Given the description of an element on the screen output the (x, y) to click on. 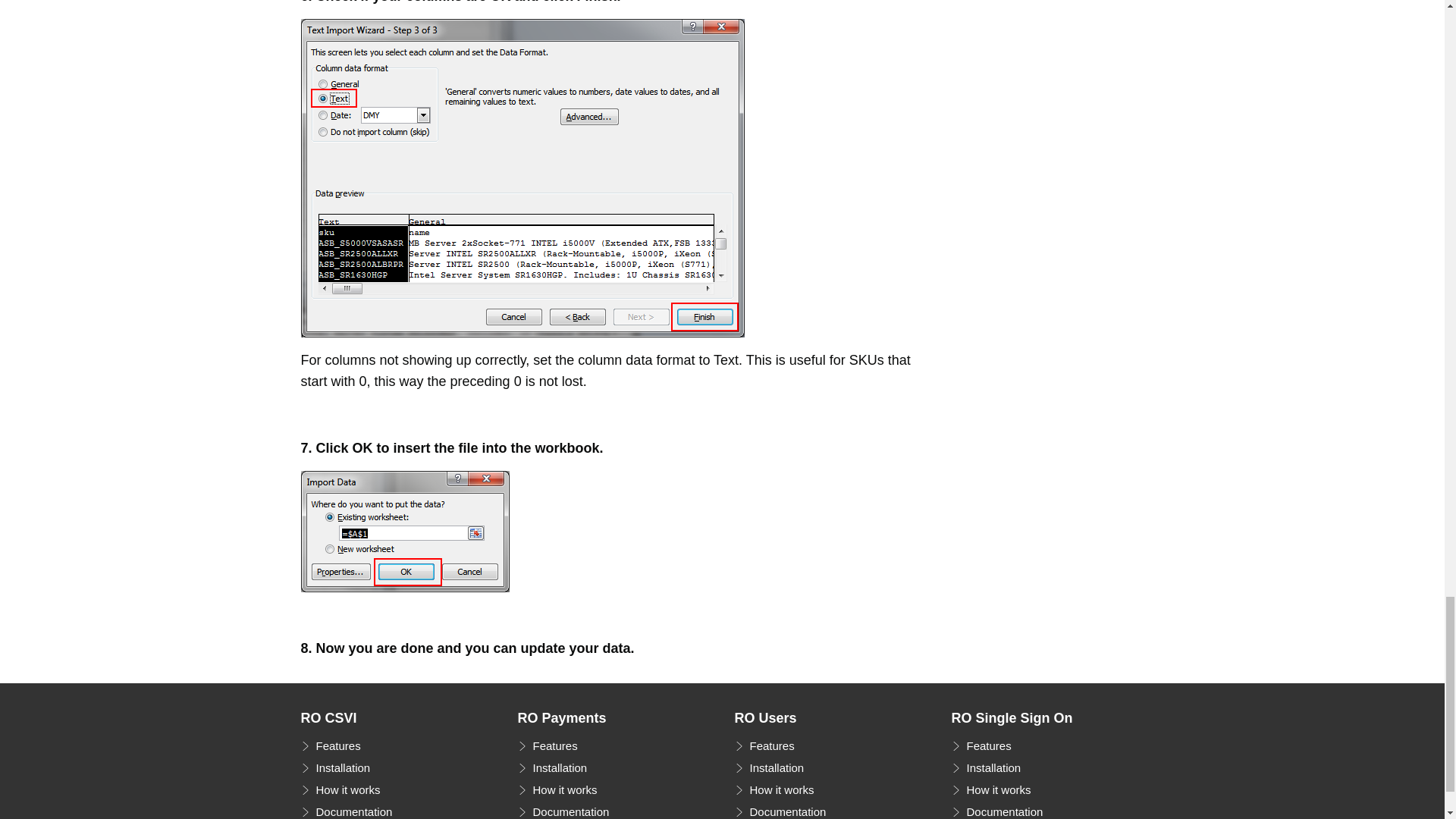
Installation (551, 767)
How it works (773, 789)
Features (763, 745)
Documentation (562, 810)
Documentation (779, 810)
How it works (990, 789)
Documentation (345, 810)
Installation (334, 767)
Open CSV with Excel 7 (403, 531)
Installation (768, 767)
Installation (985, 767)
Features (980, 745)
Features (329, 745)
Features (546, 745)
How it works (339, 789)
